Given the description of an element on the screen output the (x, y) to click on. 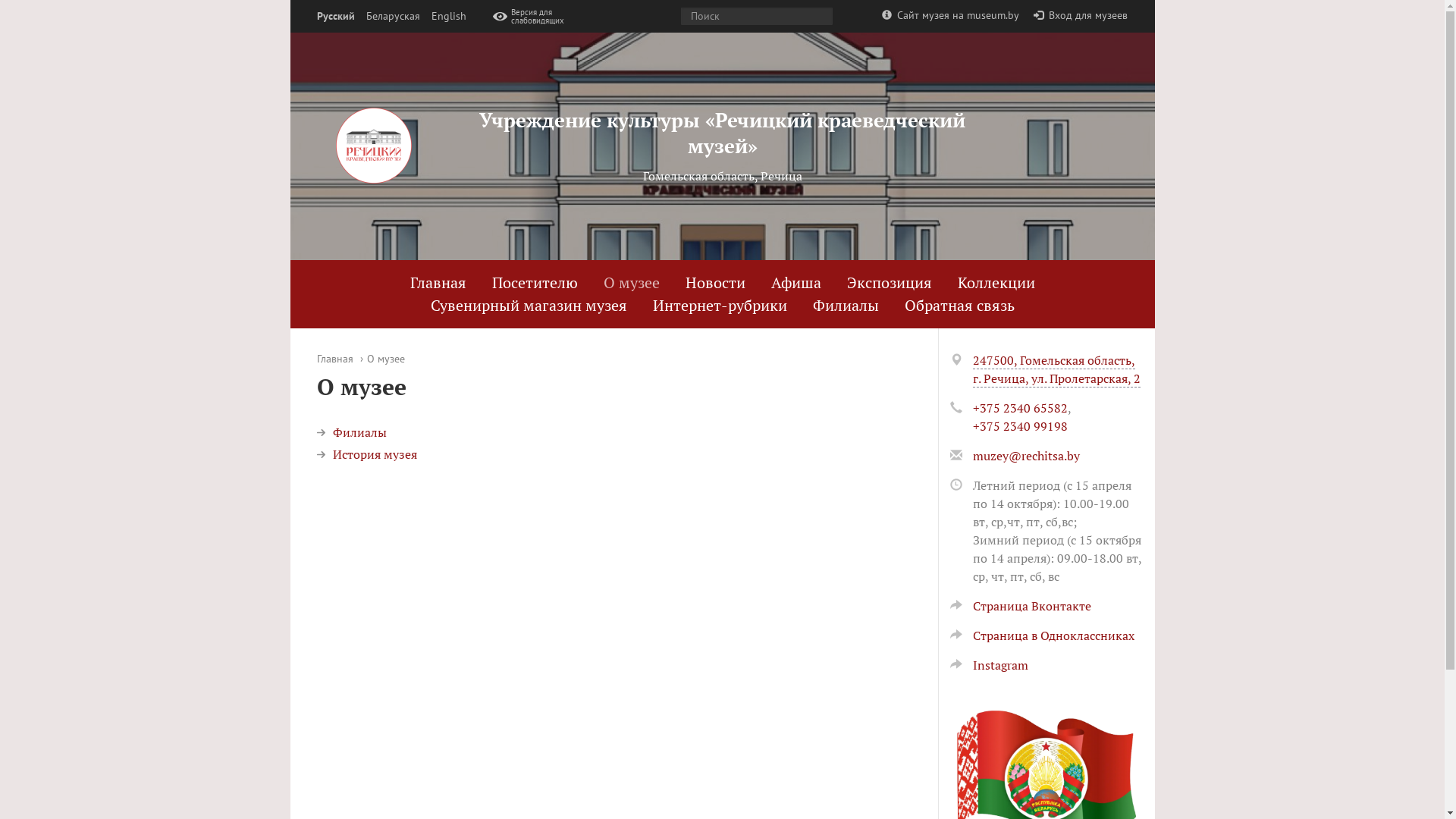
muzey@rechitsa.by Element type: text (1025, 455)
English Element type: text (447, 16)
Instagram Element type: text (988, 664)
+375 2340 65582 Element type: text (1019, 407)
+375 2340 99198 Element type: text (1019, 426)
